Given the description of an element on the screen output the (x, y) to click on. 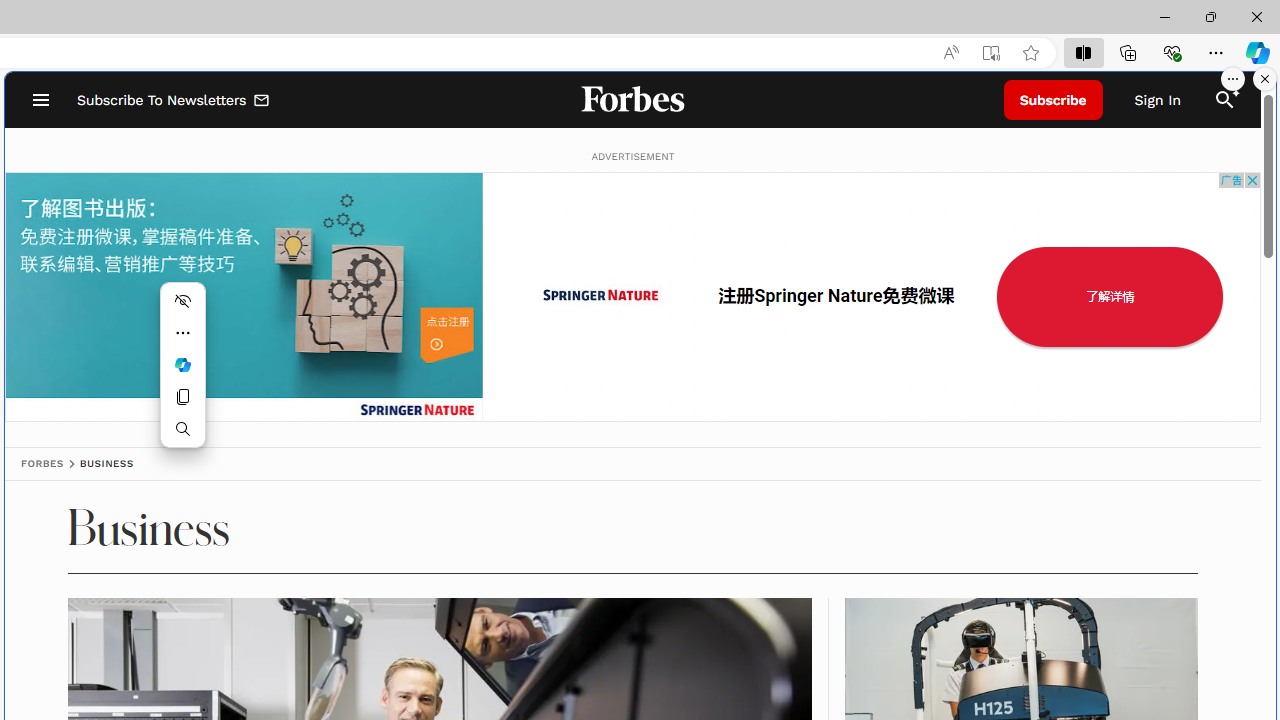
Copy (182, 396)
